Given the description of an element on the screen output the (x, y) to click on. 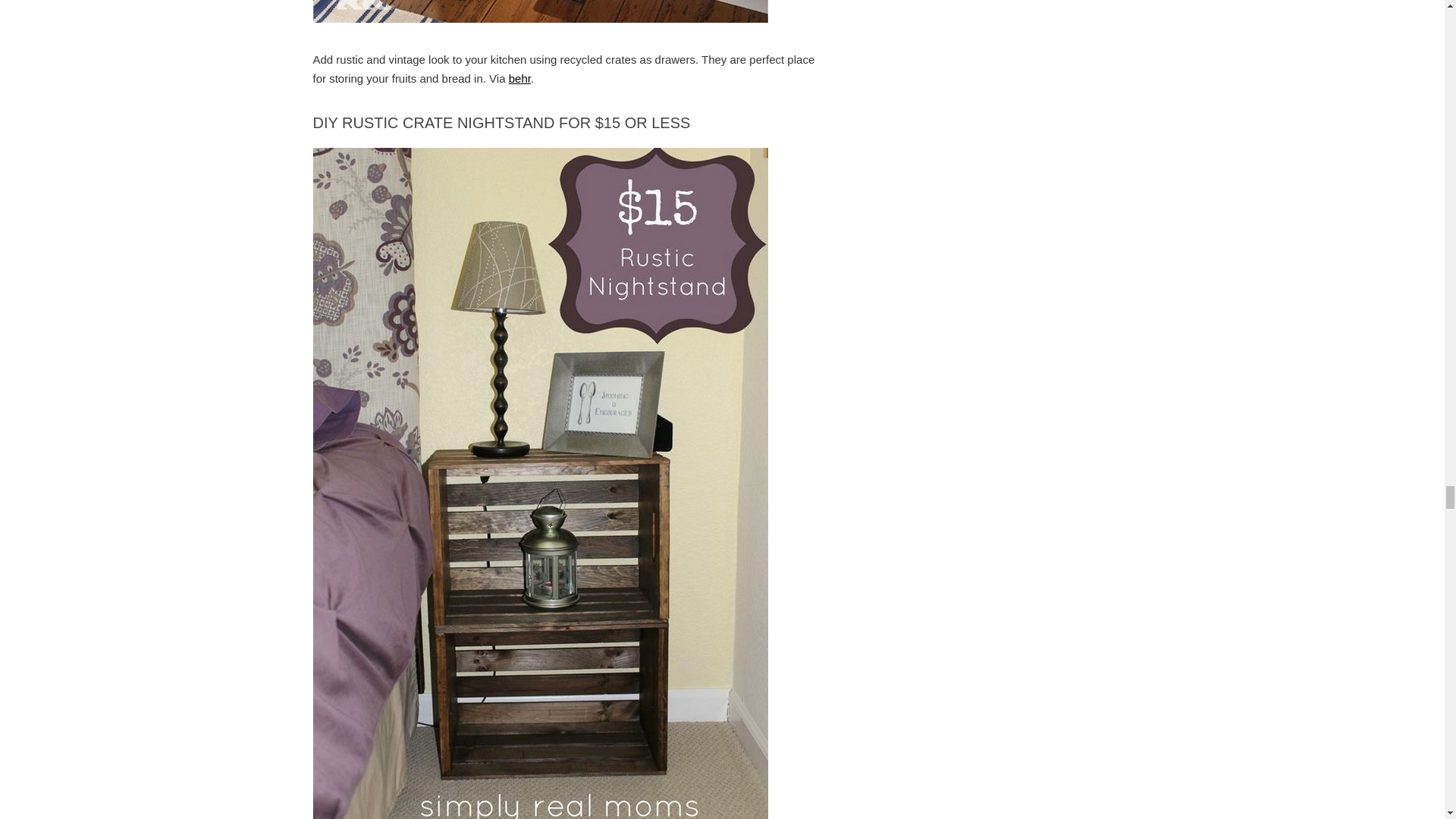
behr (519, 78)
